Given the description of an element on the screen output the (x, y) to click on. 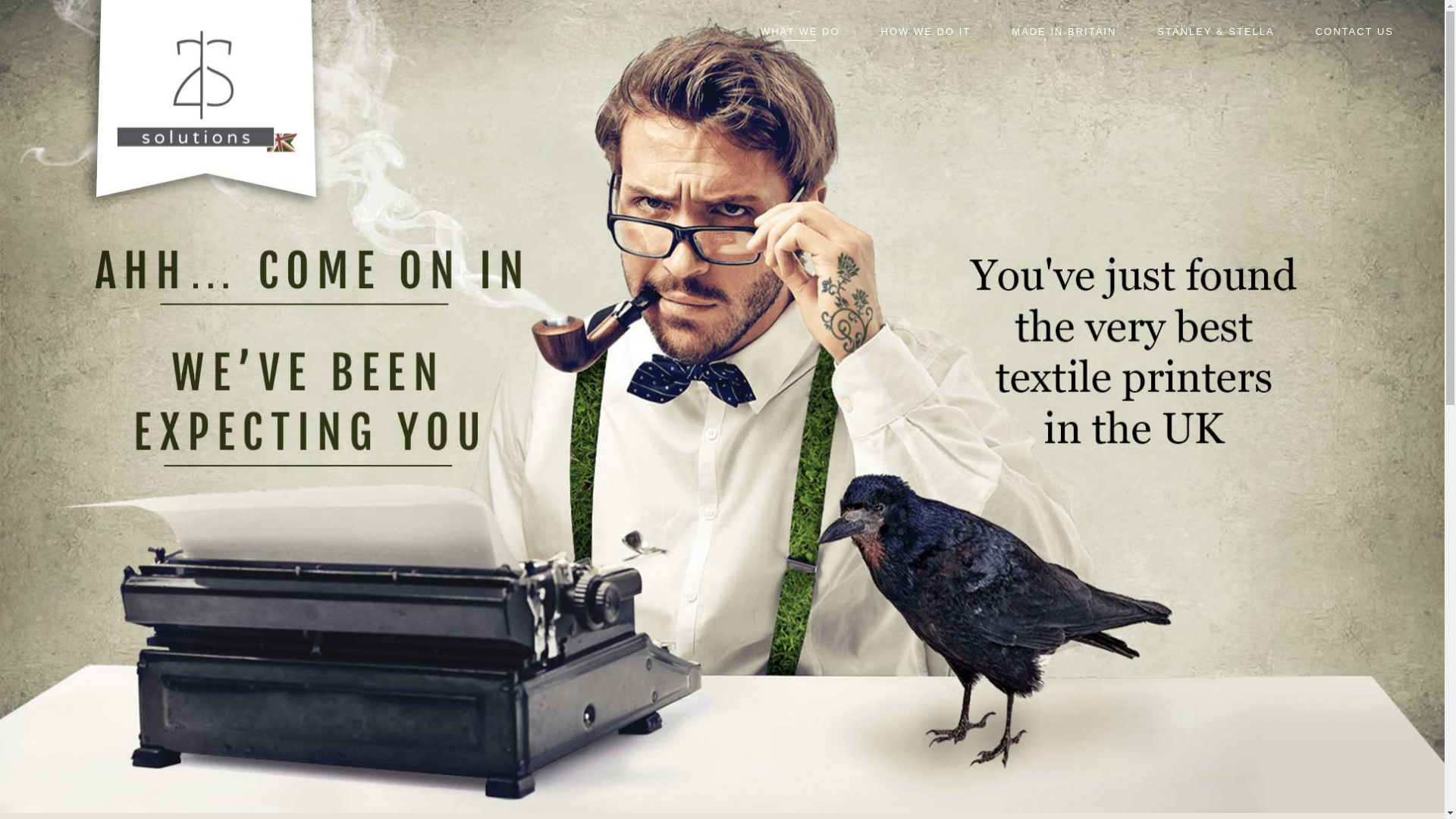
HOW WE DO IT Element type: text (926, 42)
WHAT WE DO Element type: text (800, 42)
MADE IN BRITAIN Element type: text (1063, 42)
CONTACT US Element type: text (1354, 42)
STANLEY & STELLA Element type: text (1215, 42)
